Given the description of an element on the screen output the (x, y) to click on. 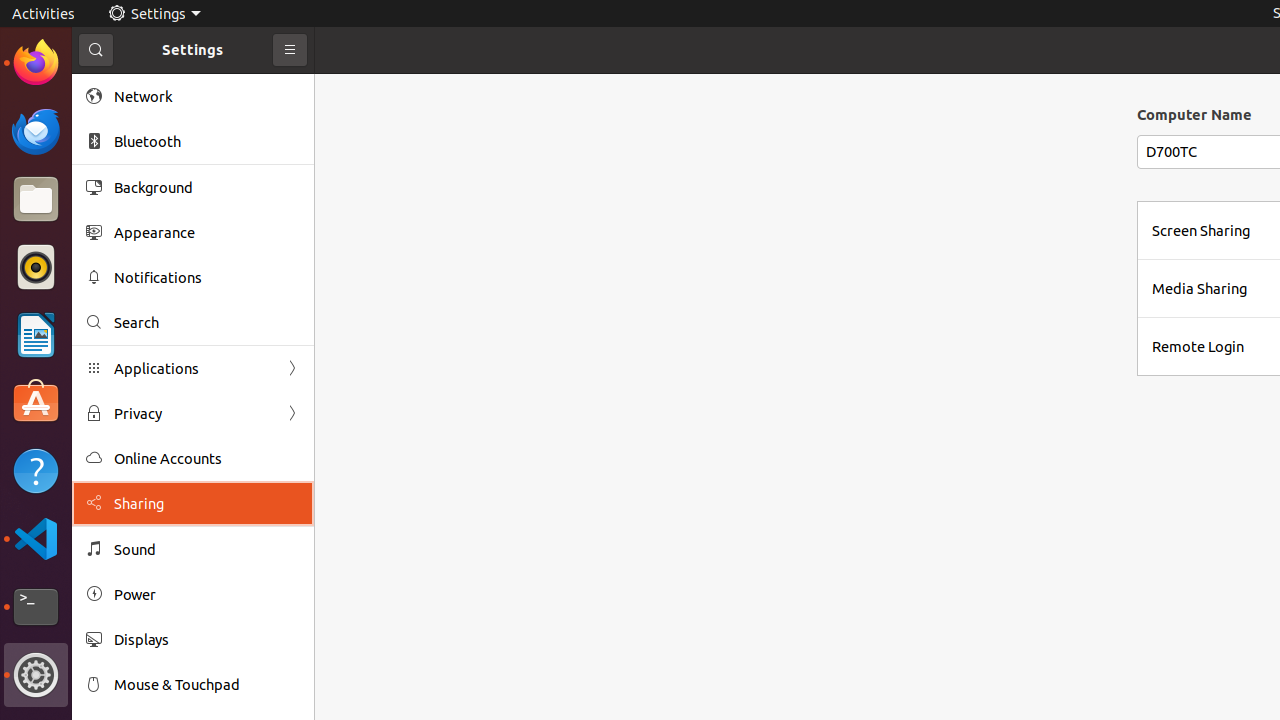
Settings Element type: menu (154, 13)
Forward Element type: icon (292, 413)
Remote Login Element type: label (1198, 346)
Privacy Element type: label (193, 413)
